Given the description of an element on the screen output the (x, y) to click on. 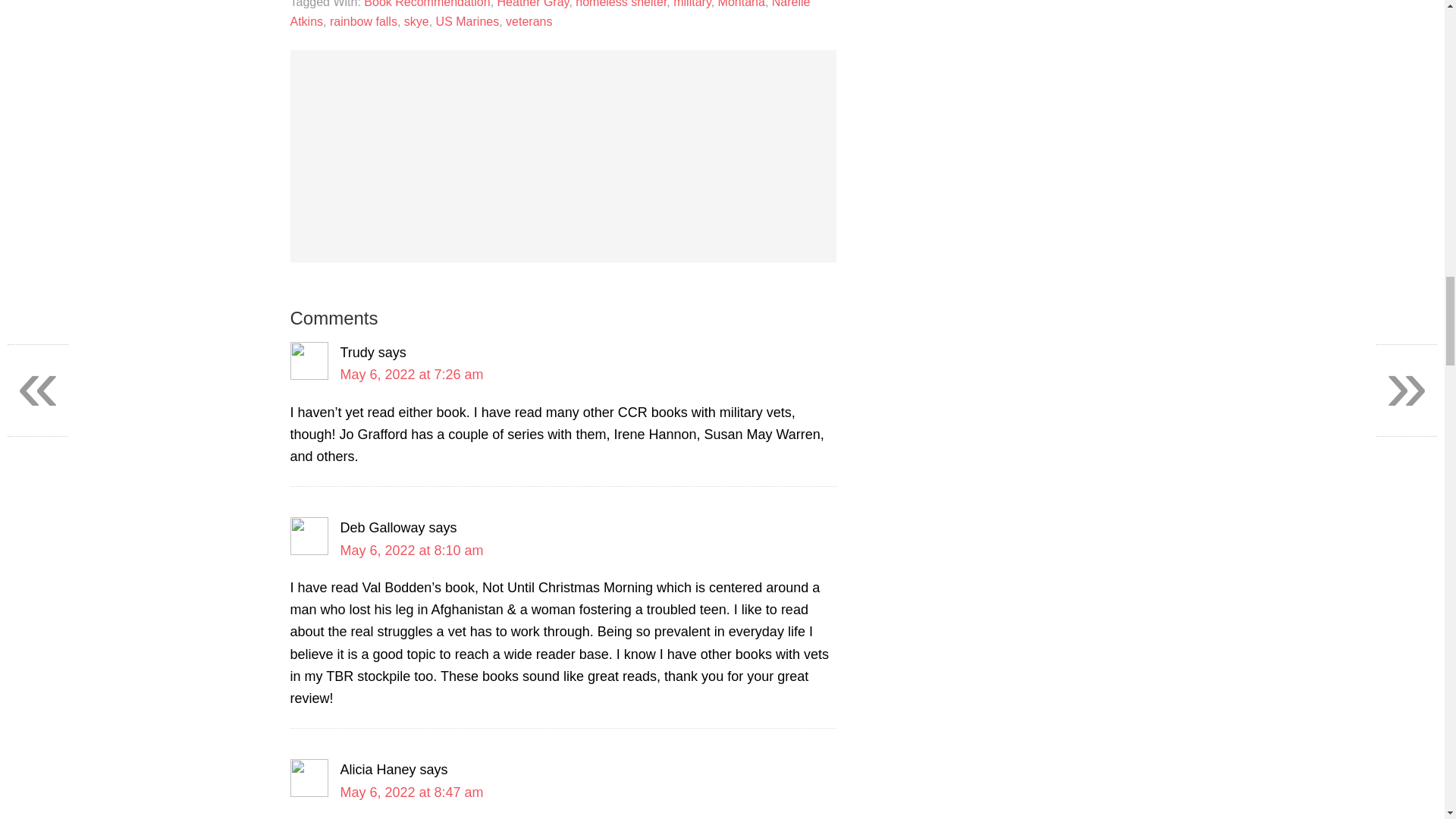
military (691, 4)
veterans (528, 21)
rainbow falls (363, 21)
US Marines (467, 21)
homeless shelter (620, 4)
Book Recommendation (426, 4)
Narelle Atkins (549, 13)
Heather Gray (533, 4)
skye (416, 21)
Montana (741, 4)
